Given the description of an element on the screen output the (x, y) to click on. 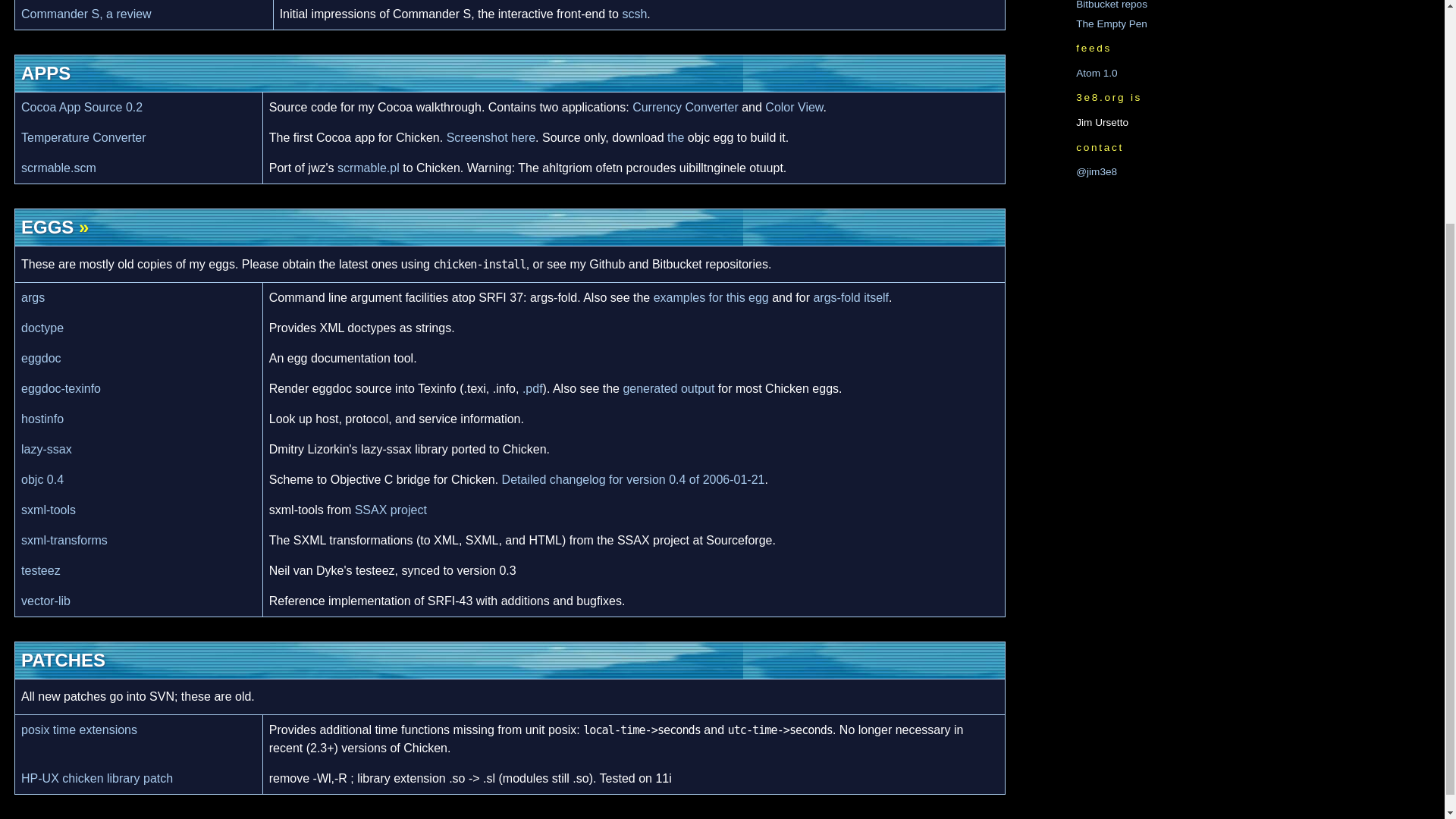
Screenshot here (490, 137)
scrmable.scm (58, 167)
scsh (633, 13)
Color View (793, 106)
args (33, 297)
Commander S, a review (86, 13)
eggdoc (41, 358)
EGGS (47, 227)
.pdf (532, 388)
the (675, 137)
